Given the description of an element on the screen output the (x, y) to click on. 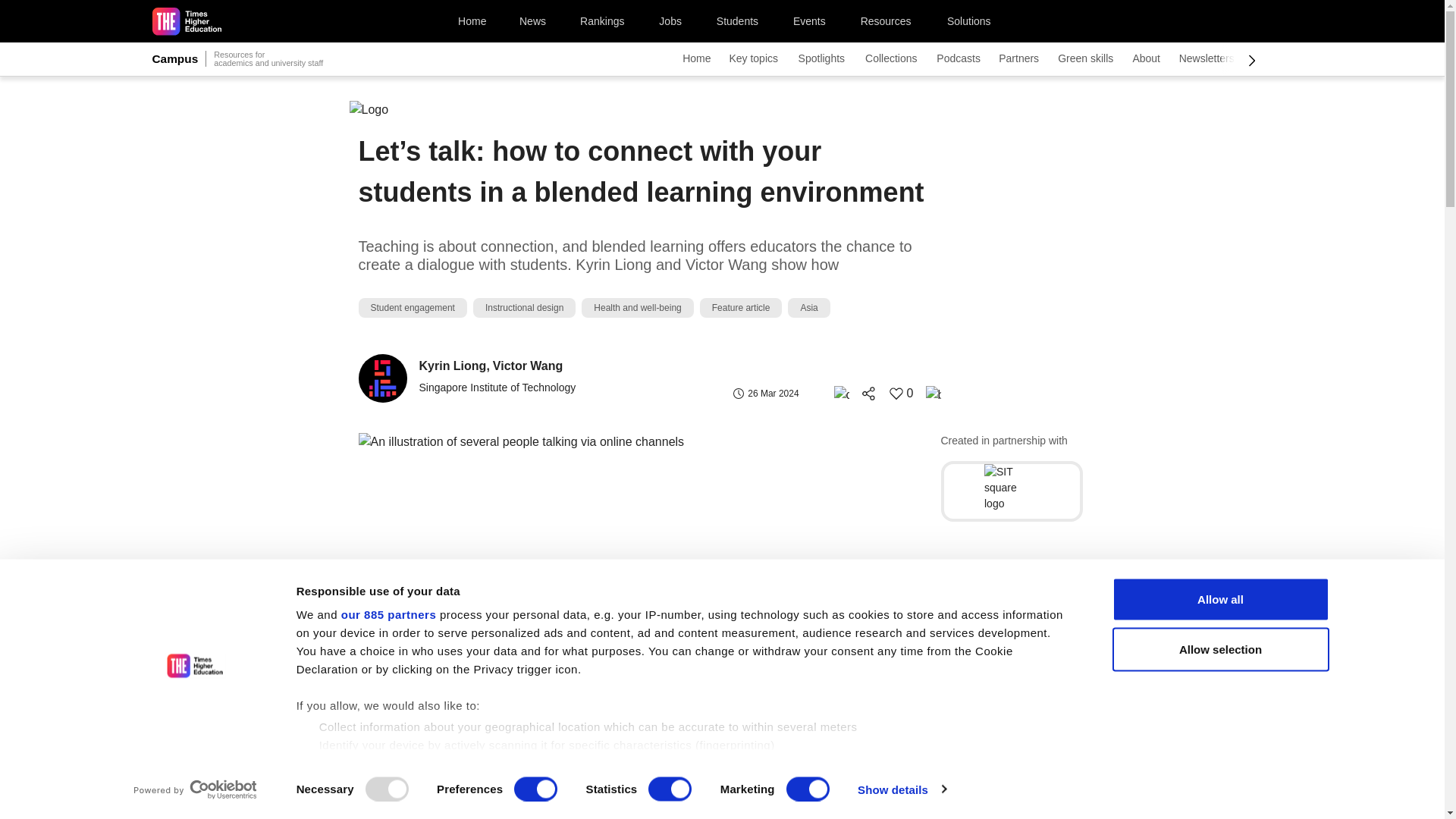
details section (825, 765)
Cookies Policy (674, 807)
Show details (900, 789)
our 885 partners (388, 614)
